Given the description of an element on the screen output the (x, y) to click on. 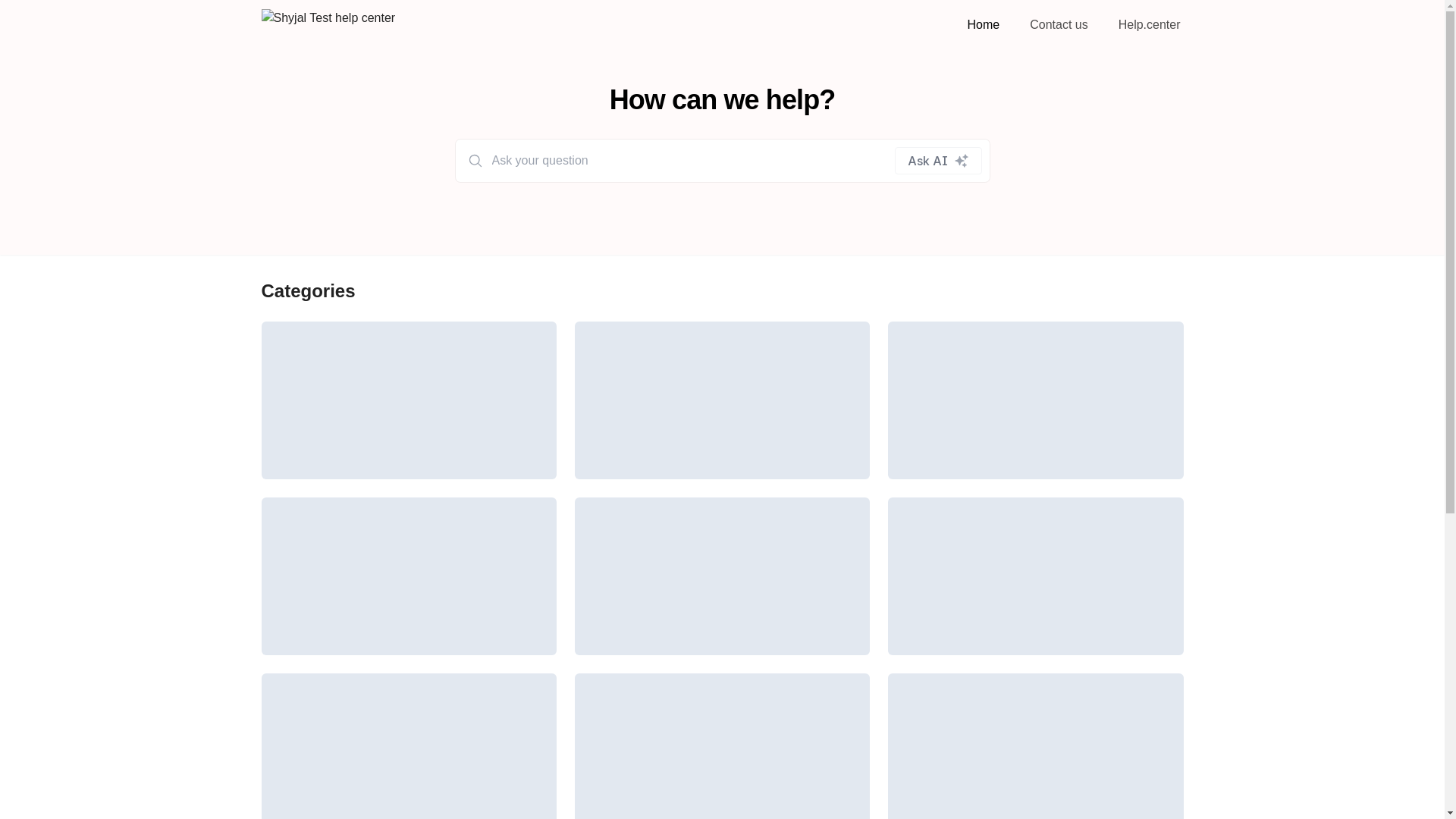
Contact us Element type: text (1058, 24)
Home Element type: text (983, 24)
Help.center Element type: text (1149, 24)
